Given the description of an element on the screen output the (x, y) to click on. 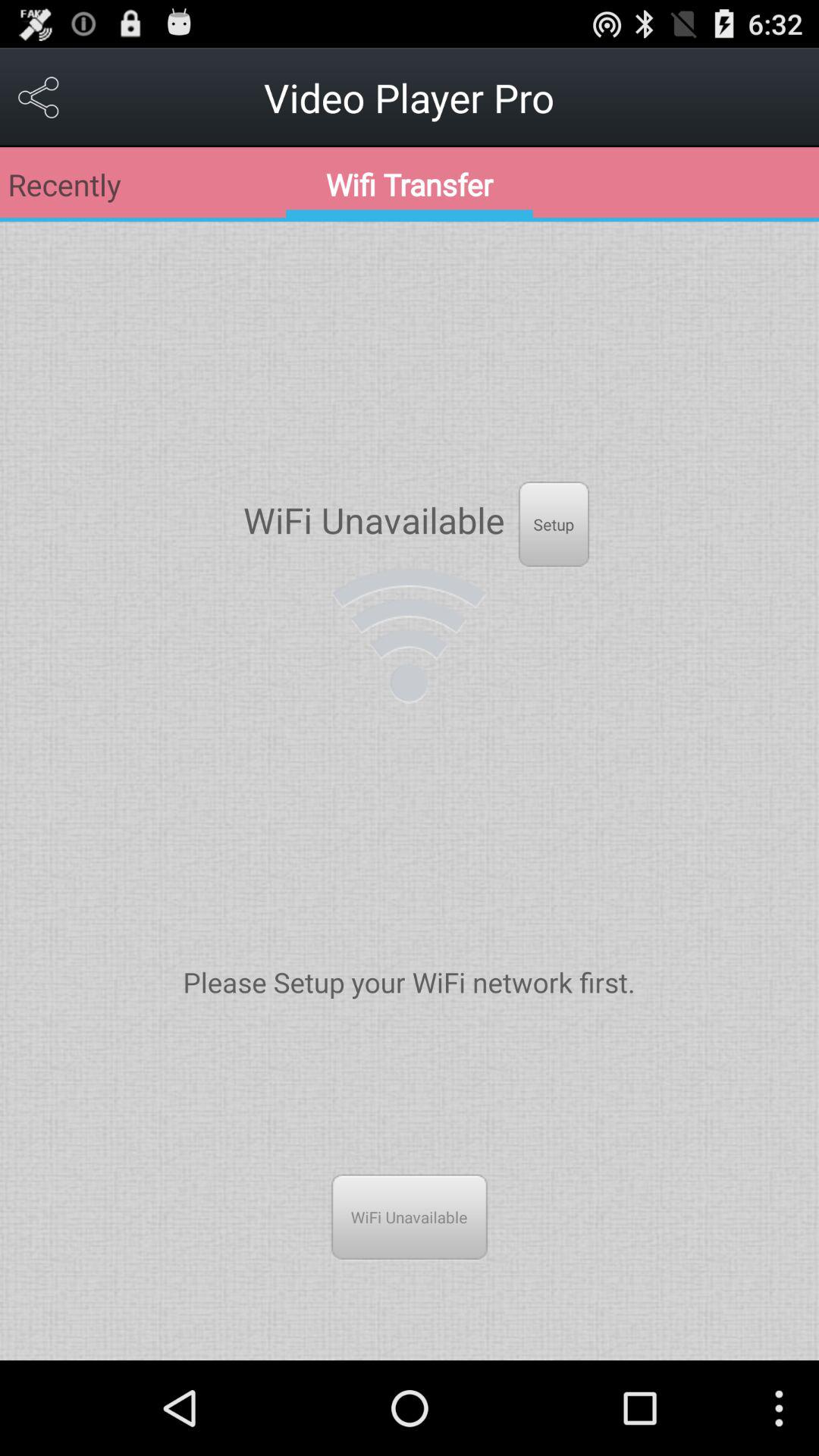
choose app to the left of video player pro icon (39, 97)
